Given the description of an element on the screen output the (x, y) to click on. 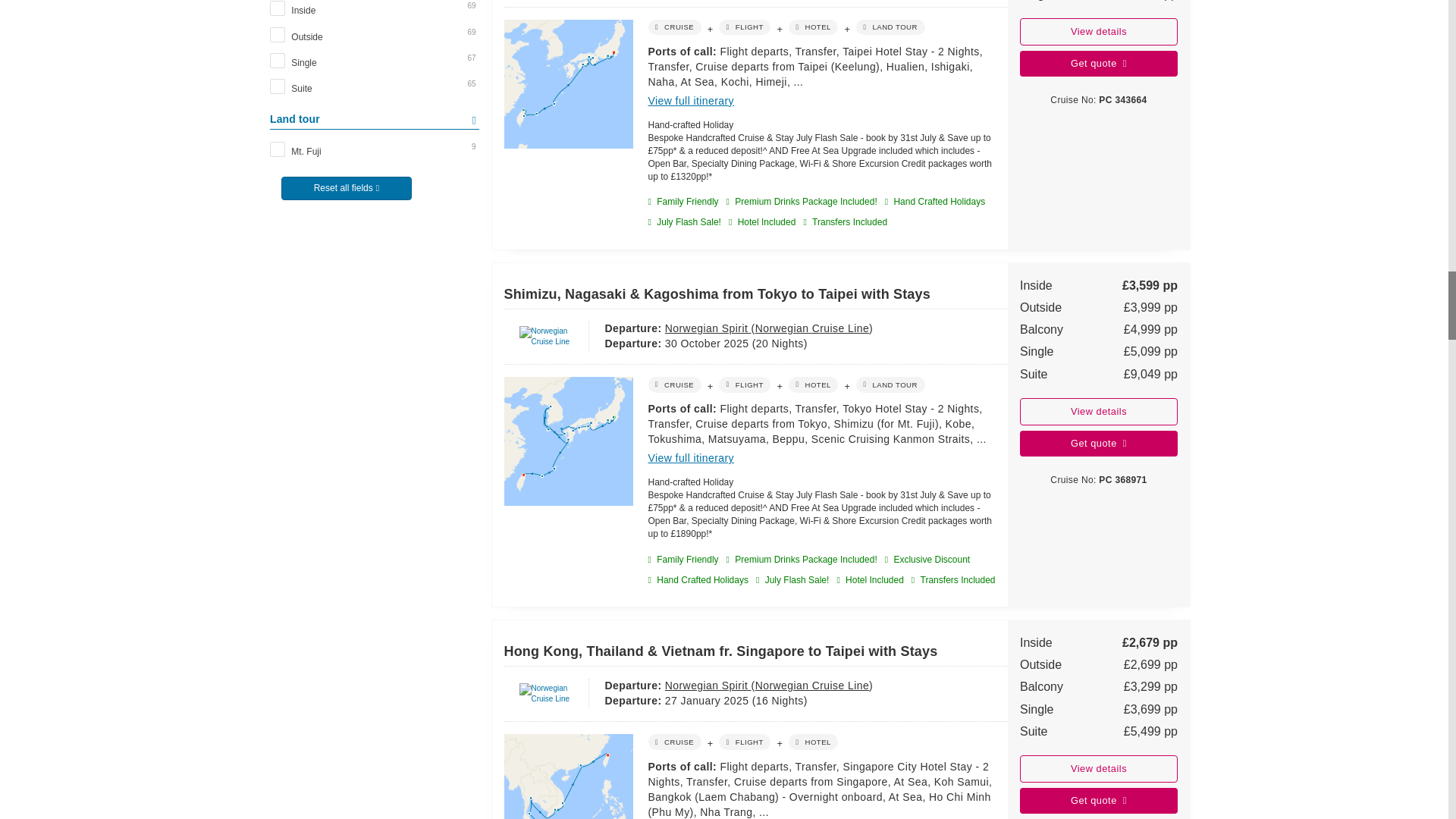
Reset all fields (346, 187)
Reset all fields (374, 192)
